Given the description of an element on the screen output the (x, y) to click on. 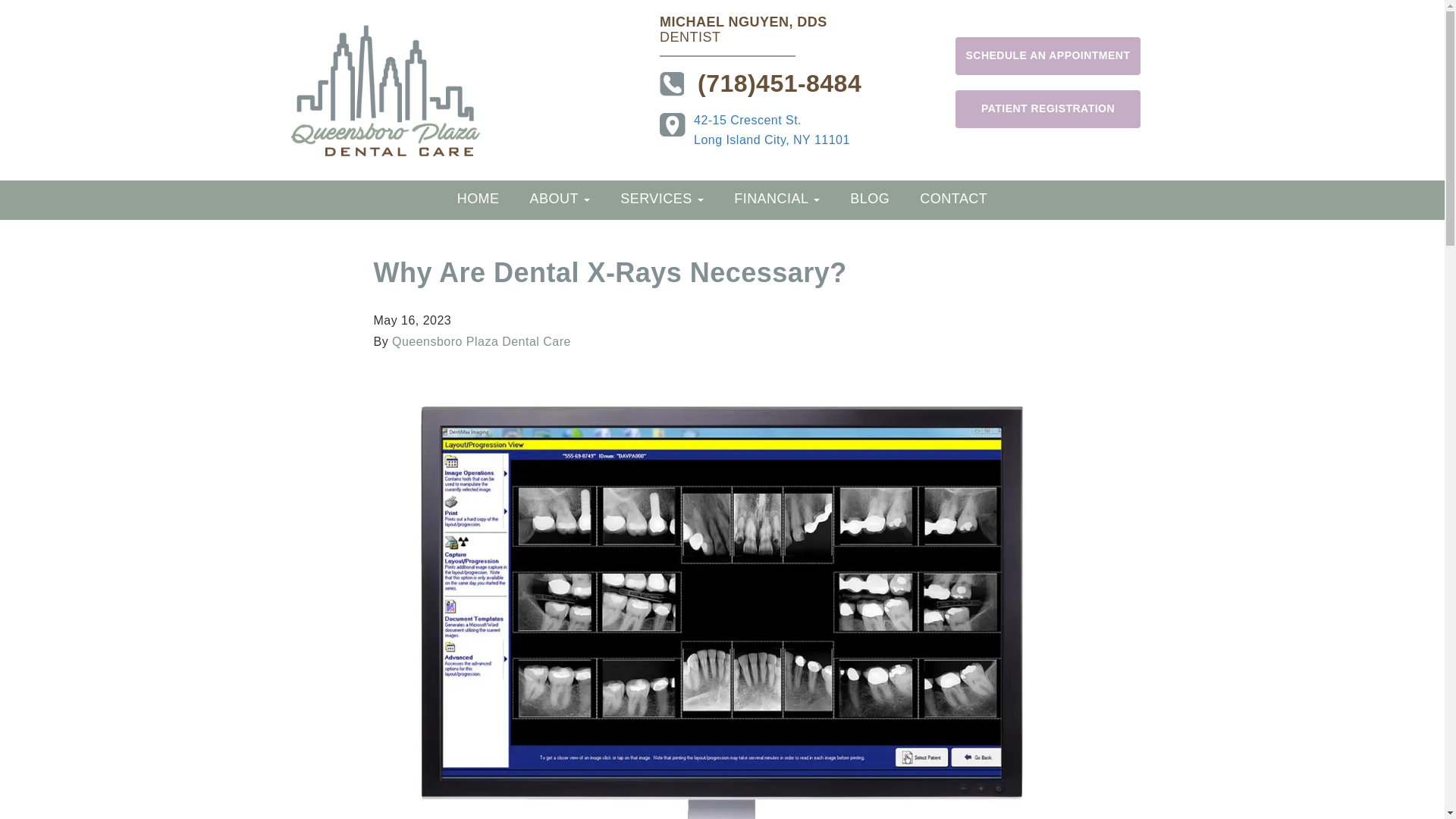
CONTACT (953, 199)
Queensboro Plaza Dental Care (480, 341)
PATIENT REGISTRATION (1047, 108)
About (560, 199)
FINANCIAL (776, 199)
Services (662, 199)
Home (478, 199)
SERVICES (662, 199)
ABOUT (560, 199)
BLOG (869, 199)
SCHEDULE AN APPOINTMENT (1047, 55)
HOME (772, 129)
